Given the description of an element on the screen output the (x, y) to click on. 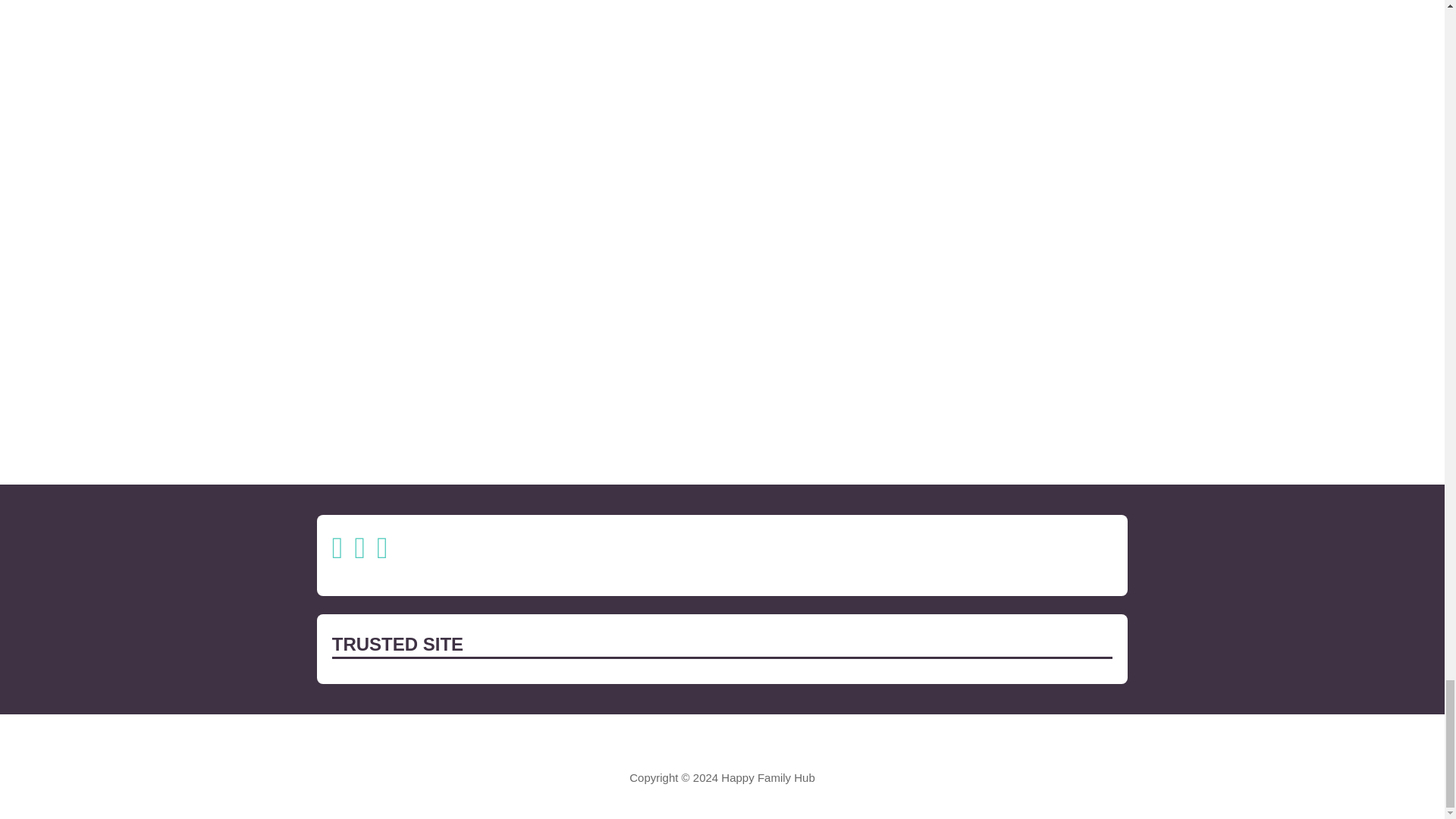
Visit Happy Family Hub on Twitter (359, 552)
Visit Happy Family Hub on Instagram (337, 552)
